Given the description of an element on the screen output the (x, y) to click on. 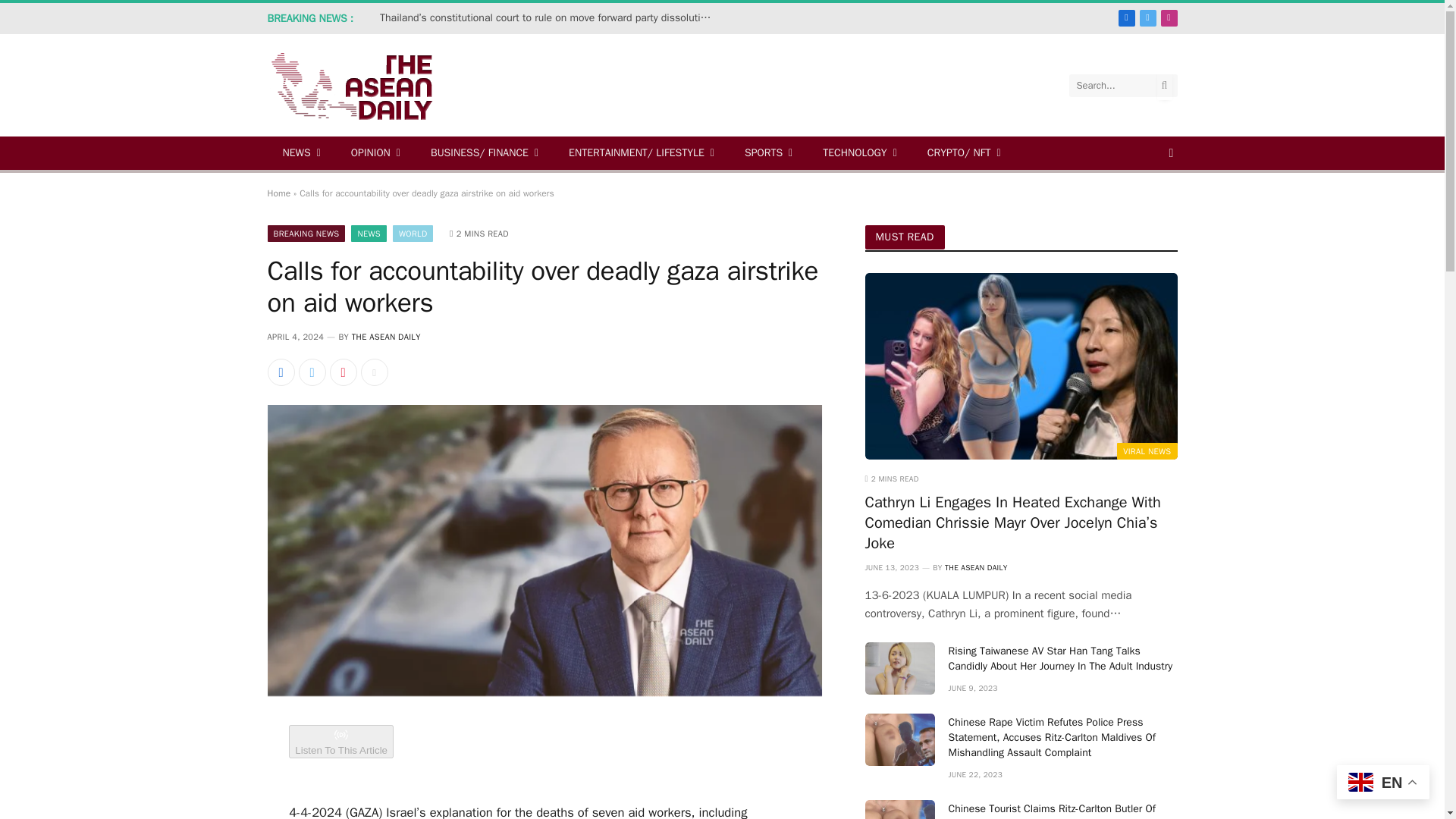
Twitter (1148, 17)
Facebook (1126, 17)
NEWS (300, 152)
THE ASEAN DAILY (369, 85)
Instagram (1168, 17)
